Given the description of an element on the screen output the (x, y) to click on. 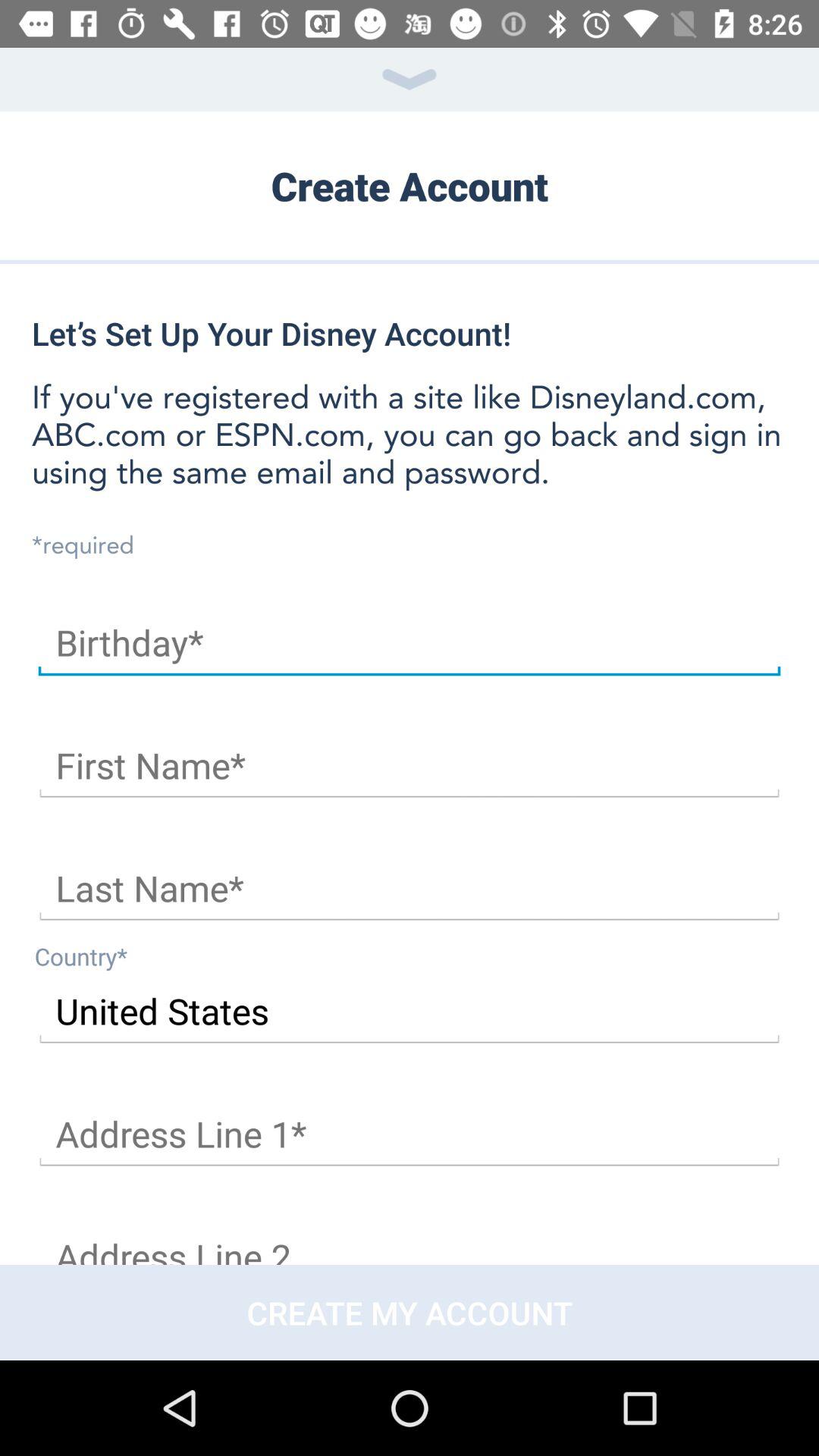
enter last name (409, 888)
